Given the description of an element on the screen output the (x, y) to click on. 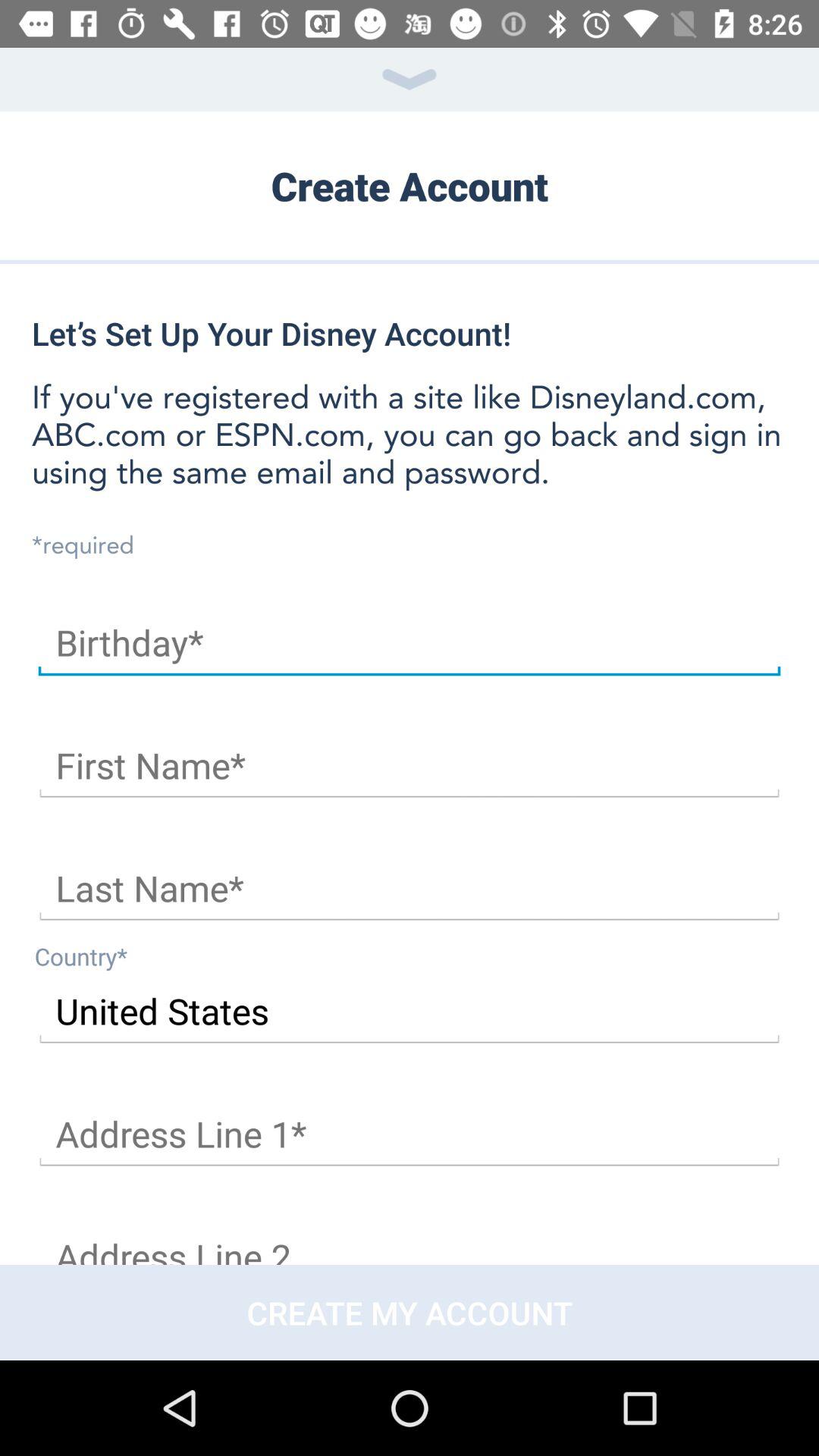
enter last name (409, 888)
